Given the description of an element on the screen output the (x, y) to click on. 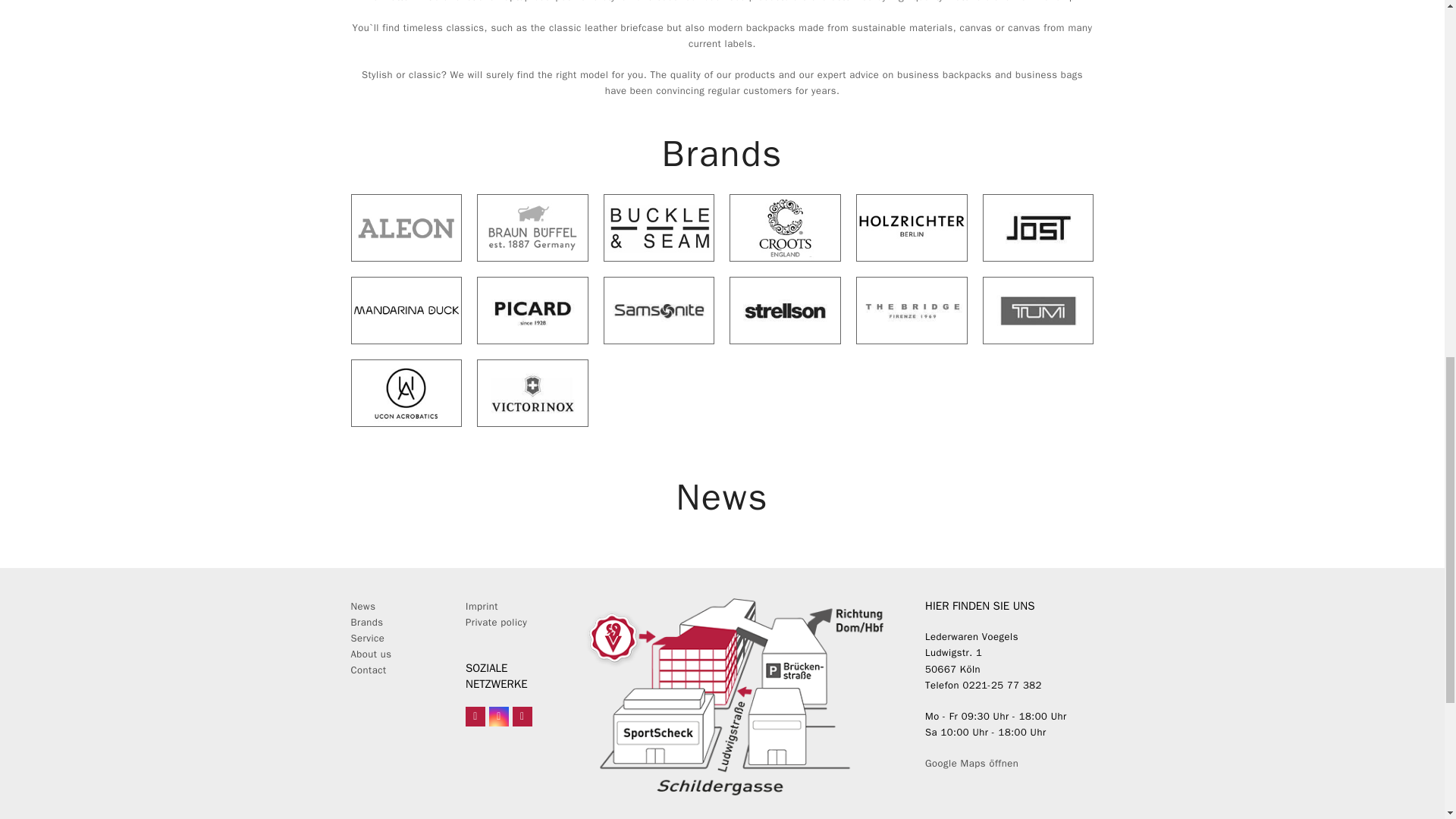
Imprint (481, 605)
Service (367, 637)
Private policy (496, 621)
YouTube (522, 716)
About us (370, 653)
Instagram (498, 716)
Contact (367, 669)
Facebook (474, 716)
Instagram (498, 716)
Brands (366, 621)
